Given the description of an element on the screen output the (x, y) to click on. 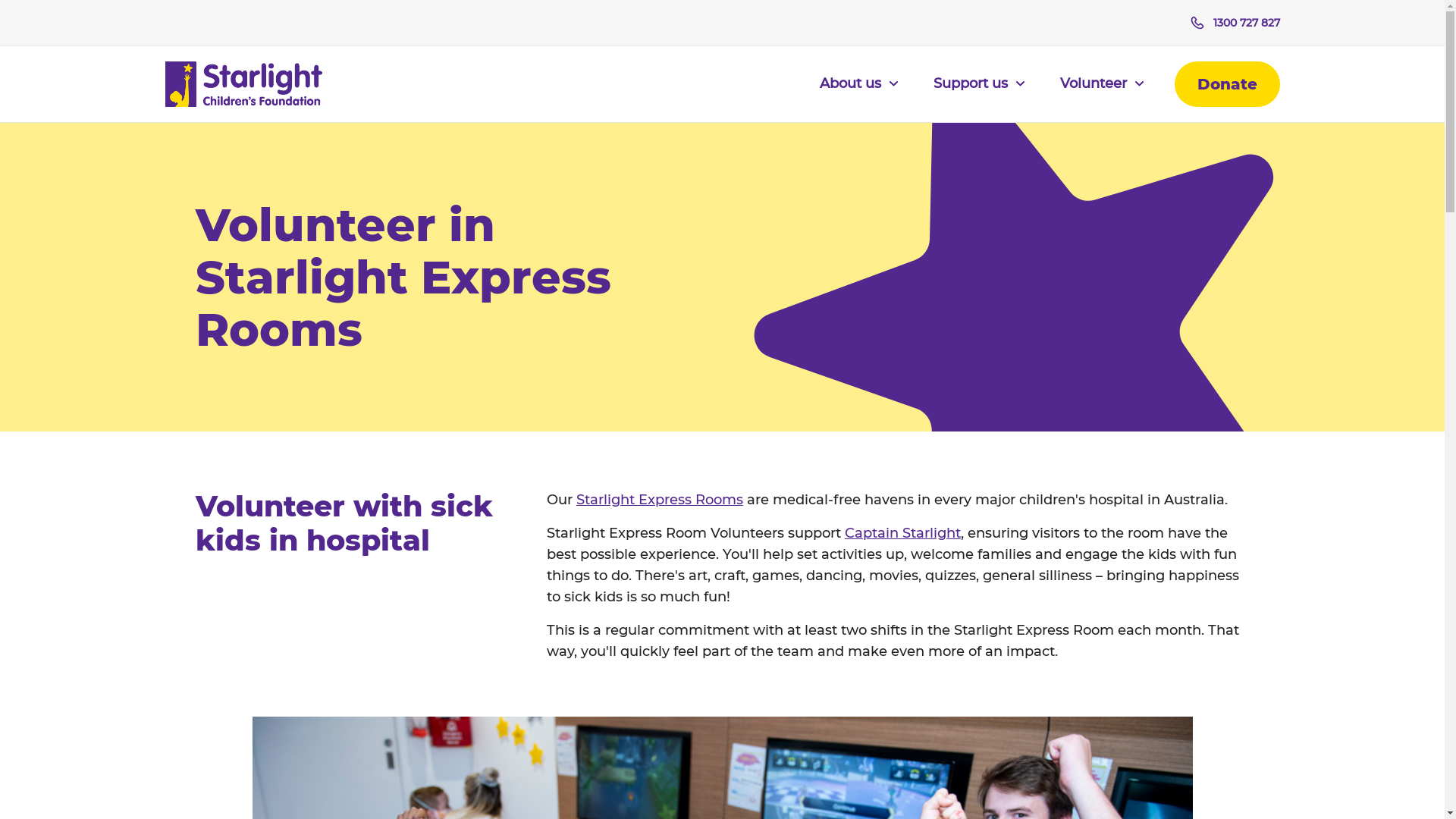
Safeguarding children & young people Element type: text (722, 365)
What we do Element type: text (722, 153)
Livewire Element type: text (722, 274)
Healthier Futures Initiative Element type: text (722, 335)
Starlight Element type: hover (243, 83)
Support us Element type: text (978, 91)
Donate Element type: text (1226, 83)
About us Element type: text (858, 91)
Our partners Element type: text (350, 244)
Who we are Element type: text (350, 153)
Volunteer Element type: text (1102, 91)
Captain Starlight Element type: text (722, 213)
Our impact Element type: text (722, 183)
1300 727 827 Element type: text (1235, 22)
Our mission Element type: text (350, 183)
Wishgranting Element type: text (722, 304)
Starlight in hospital Element type: text (722, 244)
Starlight Express Rooms Element type: text (659, 499)
Our Stories
Inspiring tales of fun, support and courage Element type: text (1093, 259)
Captain Starlight Element type: text (902, 532)
Our people Element type: text (350, 213)
Our Reconciliation Action Plan Element type: text (350, 304)
Careers at Starlight Element type: text (350, 335)
Our performance Element type: text (350, 274)
